Given the description of an element on the screen output the (x, y) to click on. 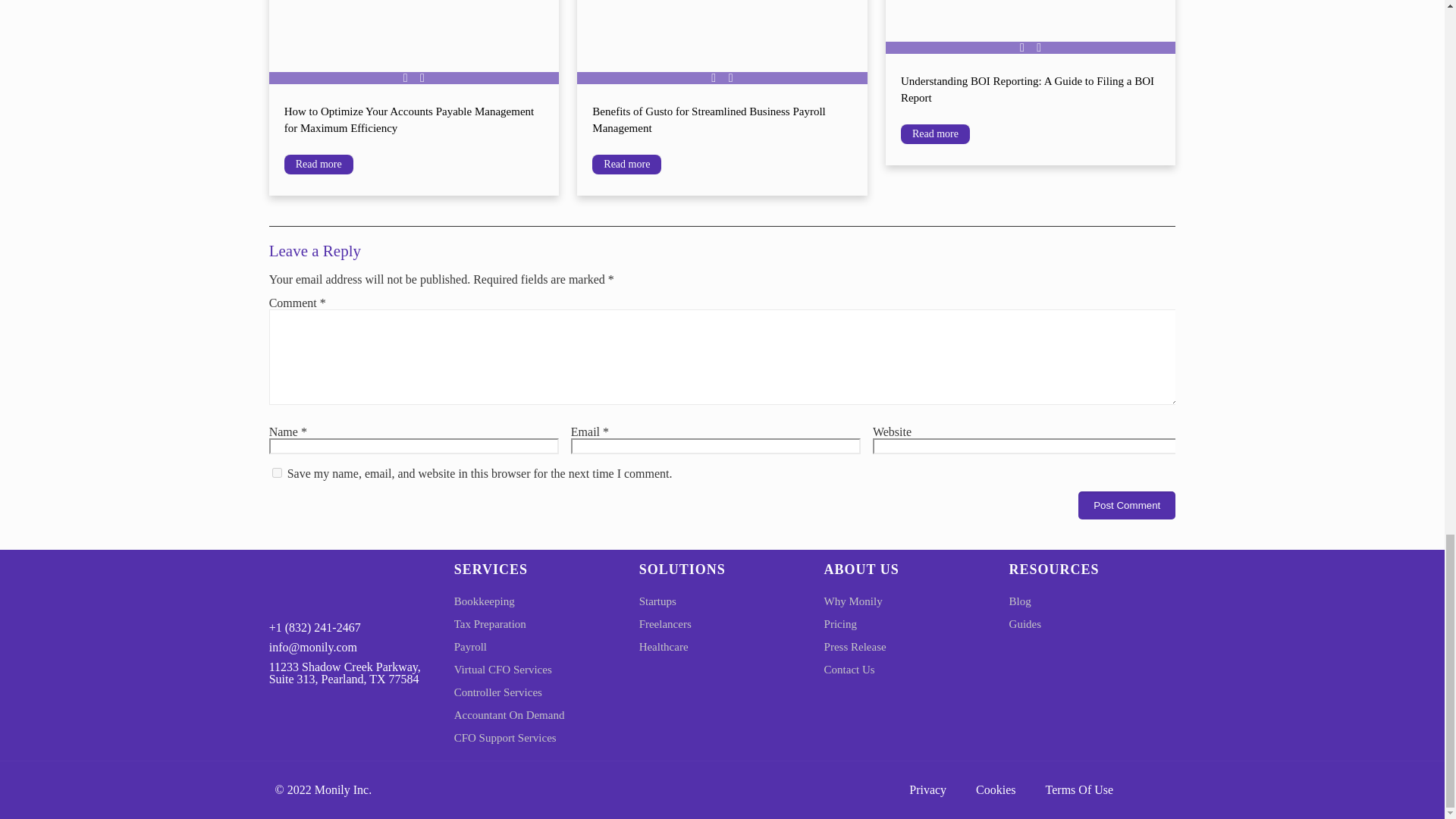
Read more (318, 164)
yes (277, 472)
Post Comment (1126, 505)
